Given the description of an element on the screen output the (x, y) to click on. 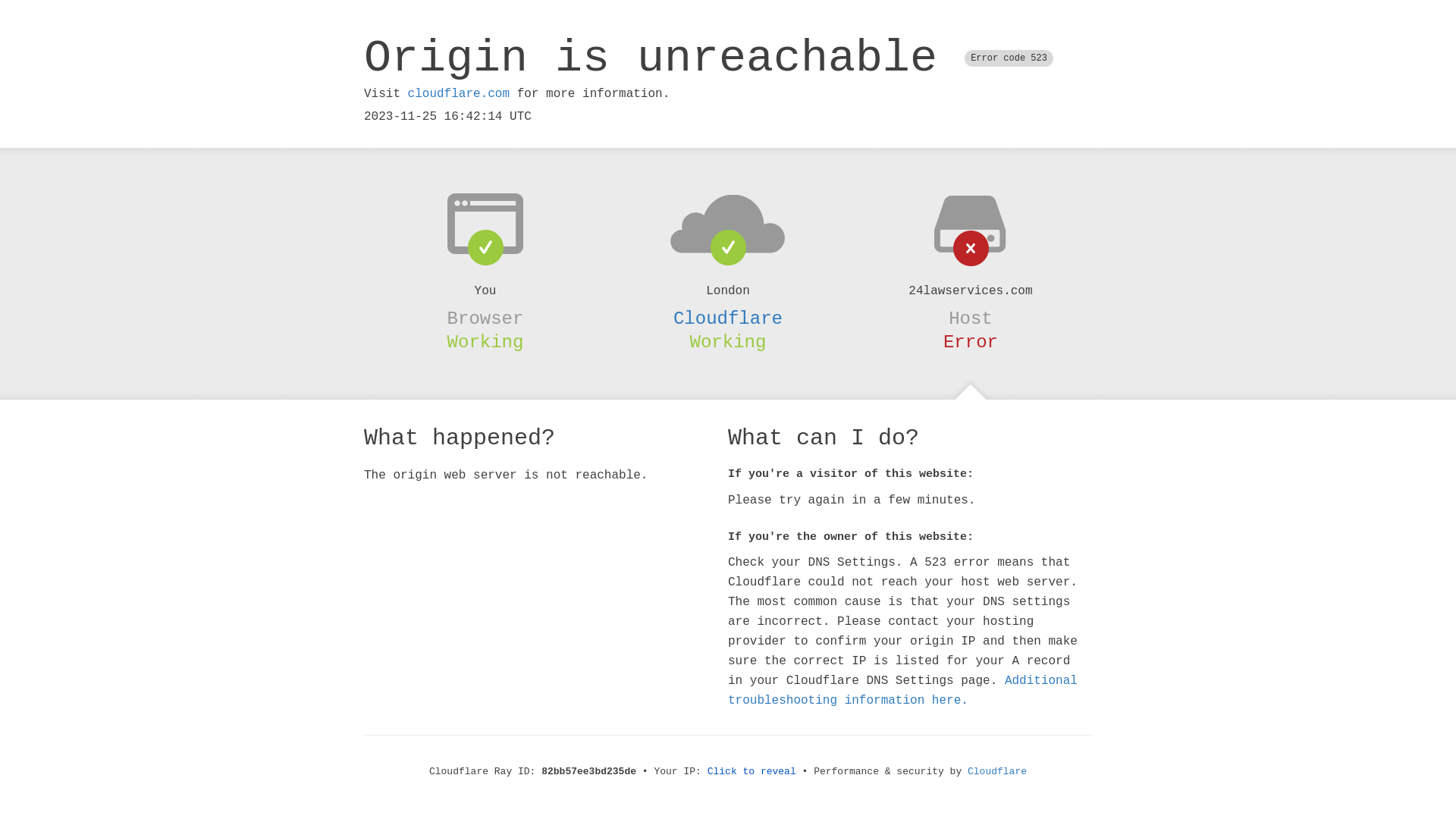
Cloudflare Element type: text (727, 318)
Click to reveal Element type: text (751, 771)
Cloudflare Element type: text (996, 771)
cloudflare.com Element type: text (458, 93)
Additional troubleshooting information here. Element type: text (902, 690)
